Given the description of an element on the screen output the (x, y) to click on. 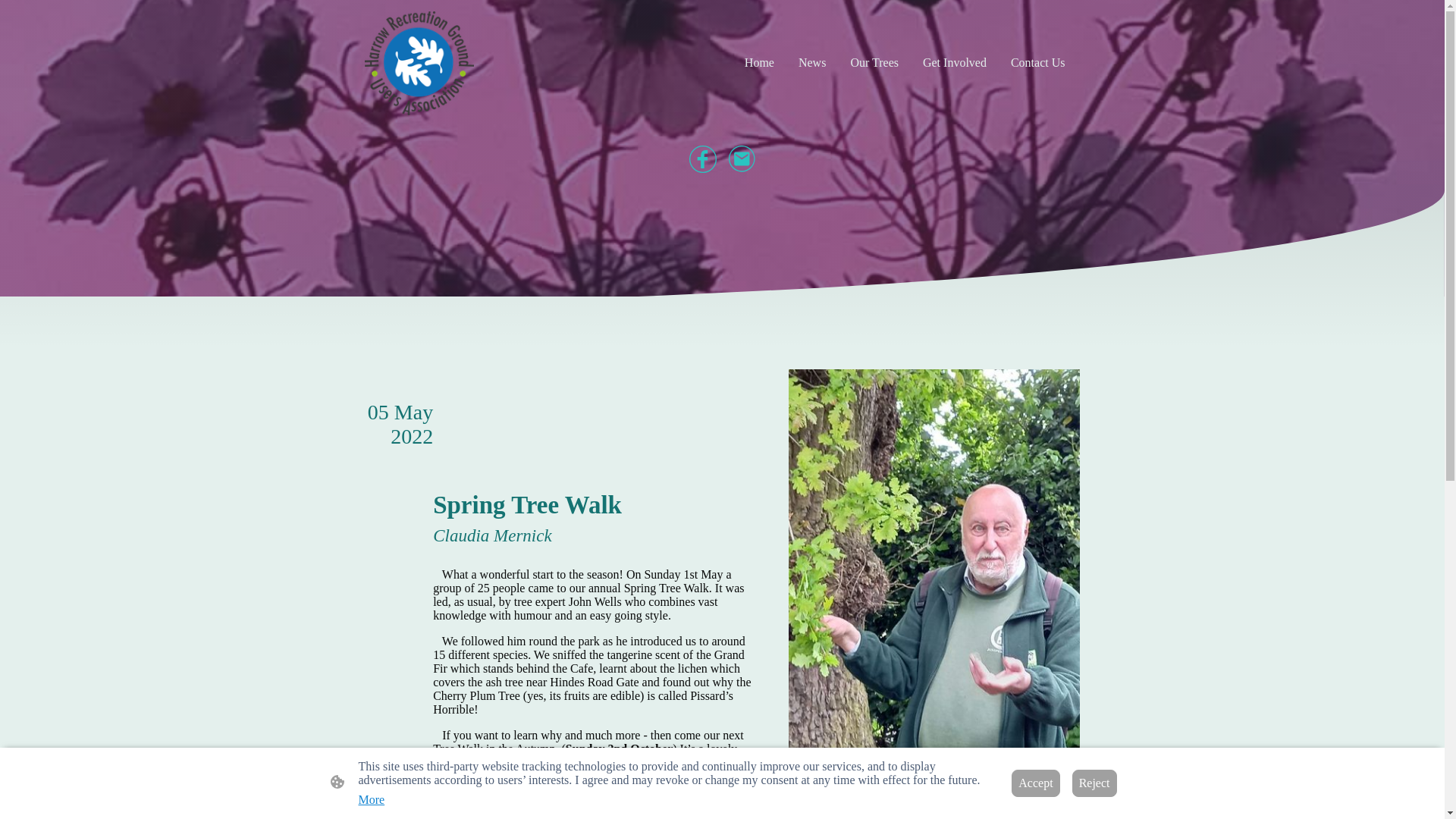
News (811, 62)
Accept (1035, 782)
Get Involved (954, 62)
Contact Us (1038, 62)
Home (758, 62)
More (371, 799)
Our Trees (874, 62)
Reject (1093, 782)
